Given the description of an element on the screen output the (x, y) to click on. 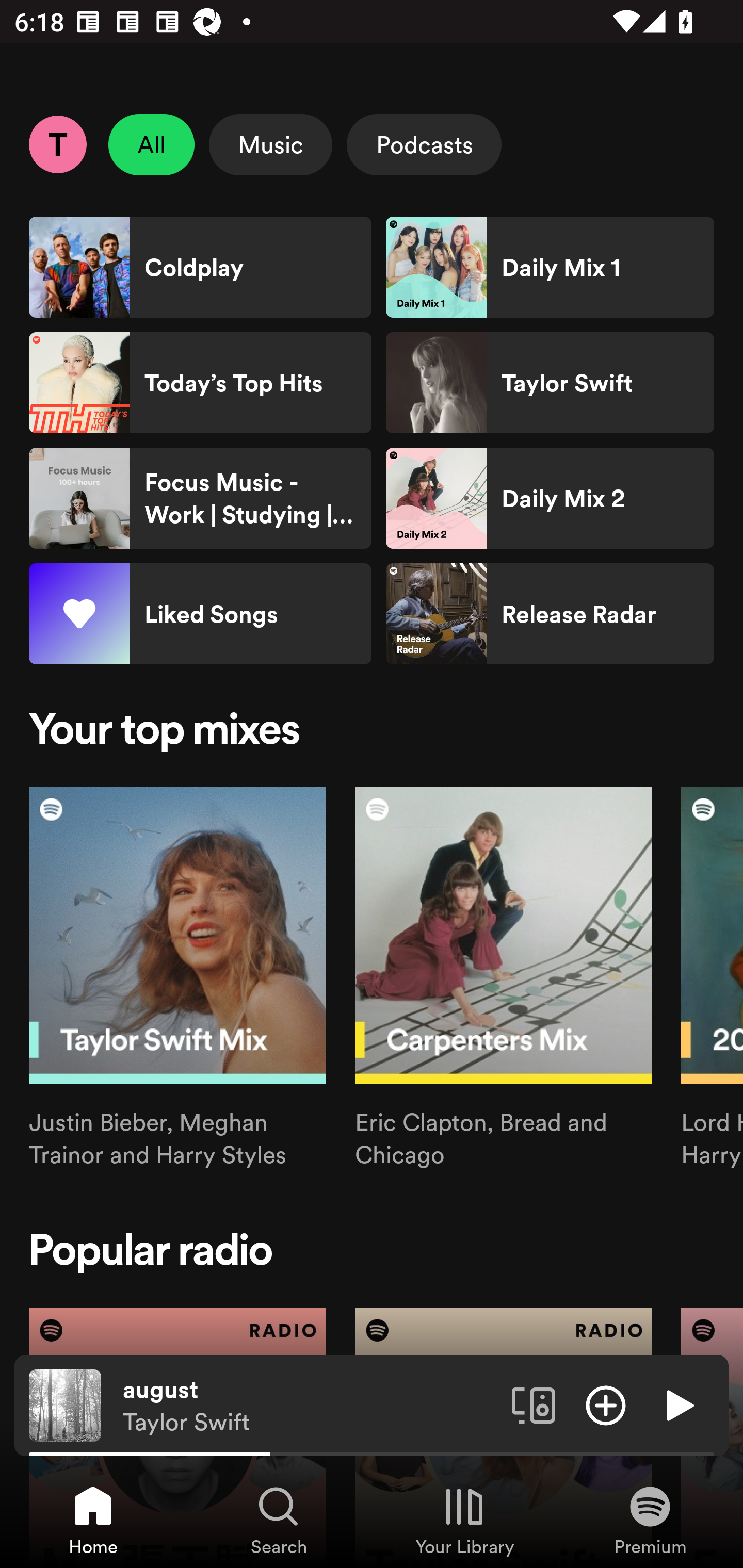
Profile (57, 144)
All Unselect All (151, 144)
Music Select Music (270, 144)
Podcasts Select Podcasts (423, 144)
Coldplay Shortcut Coldplay (199, 267)
Daily Mix 1 Shortcut Daily Mix 1 (549, 267)
Today’s Top Hits Shortcut Today’s Top Hits (199, 382)
Taylor Swift Shortcut Taylor Swift (549, 382)
Daily Mix 2 Shortcut Daily Mix 2 (549, 498)
Liked Songs Shortcut Liked Songs (199, 613)
Release Radar Shortcut Release Radar (549, 613)
august Taylor Swift (309, 1405)
The cover art of the currently playing track (64, 1404)
Connect to a device. Opens the devices menu (533, 1404)
Add item (605, 1404)
Play (677, 1404)
Home, Tab 1 of 4 Home Home (92, 1519)
Search, Tab 2 of 4 Search Search (278, 1519)
Your Library, Tab 3 of 4 Your Library Your Library (464, 1519)
Premium, Tab 4 of 4 Premium Premium (650, 1519)
